Given the description of an element on the screen output the (x, y) to click on. 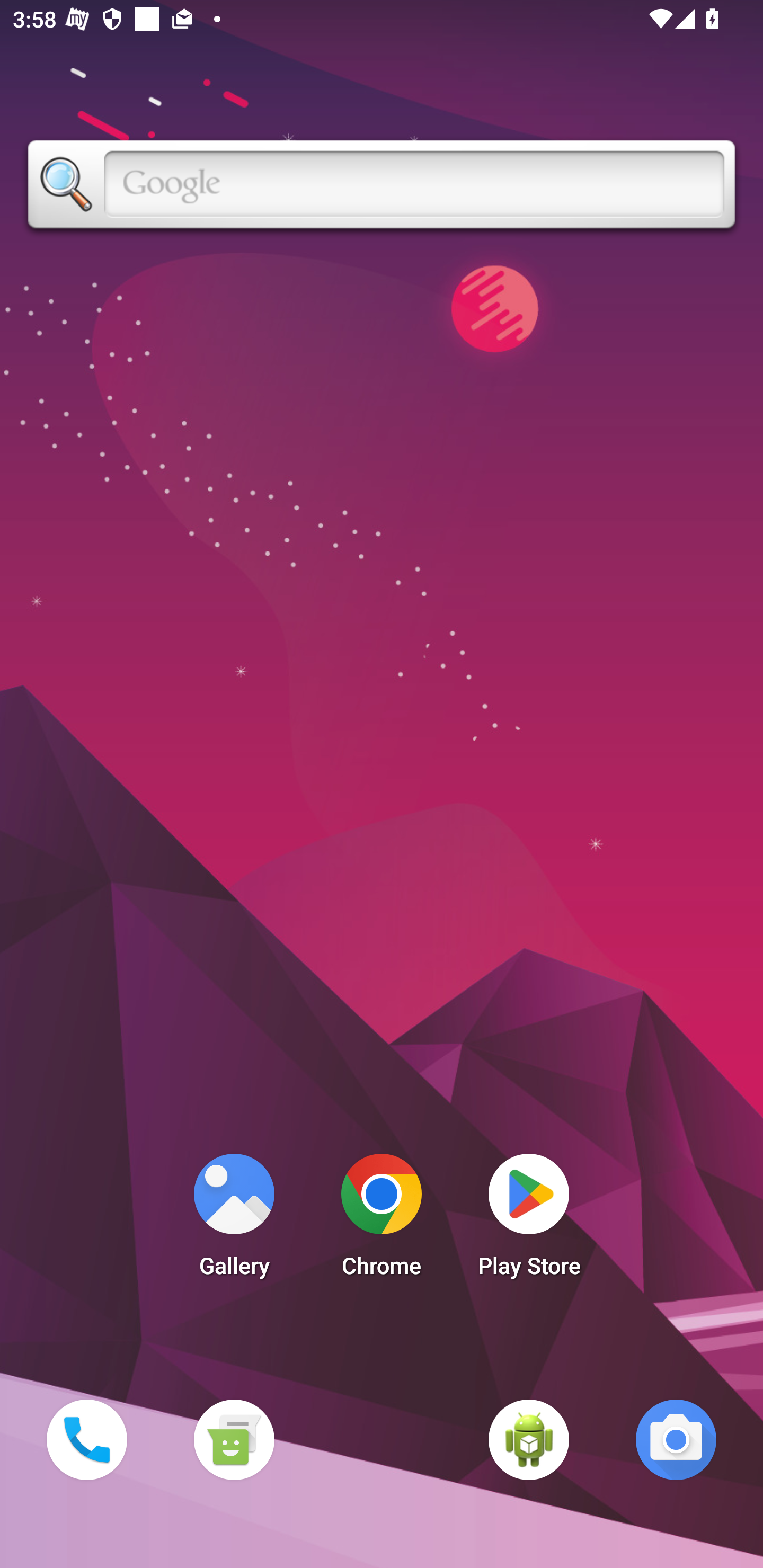
Gallery (233, 1220)
Chrome (381, 1220)
Play Store (528, 1220)
Phone (86, 1439)
Messaging (233, 1439)
WebView Browser Tester (528, 1439)
Camera (676, 1439)
